Given the description of an element on the screen output the (x, y) to click on. 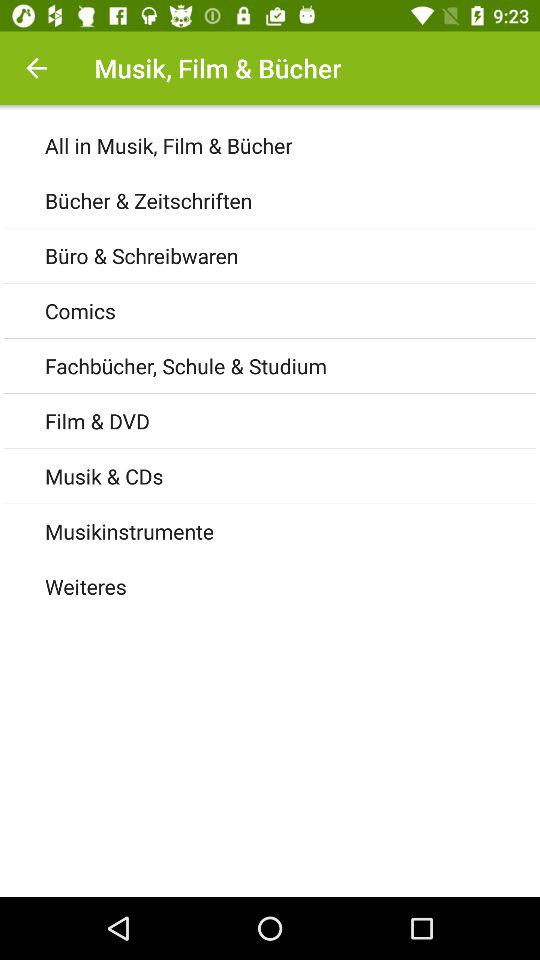
swipe until musikinstrumente (292, 530)
